Given the description of an element on the screen output the (x, y) to click on. 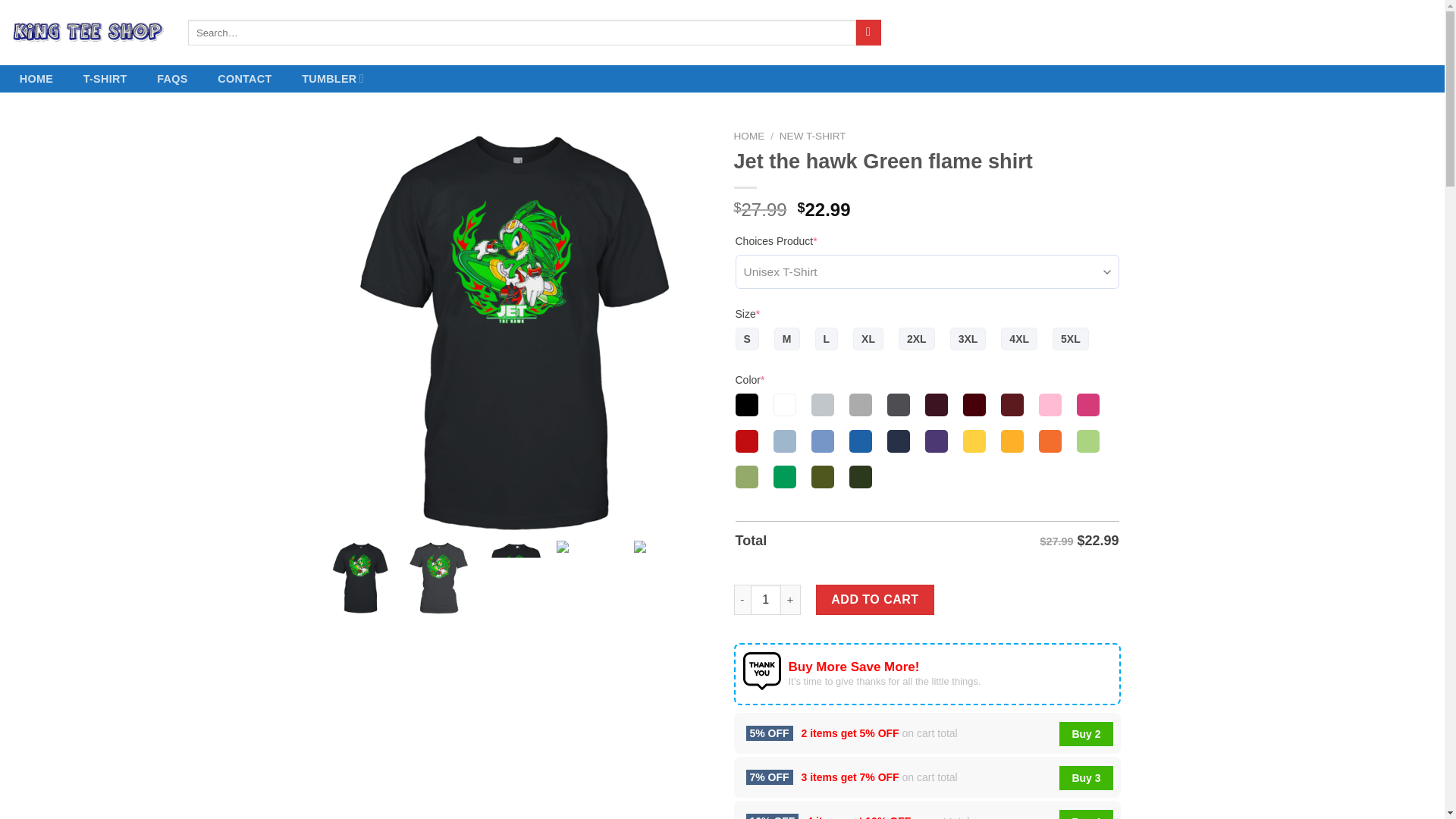
KING TEE STORE (88, 32)
HOME (749, 135)
HOME (36, 78)
T-SHIRT (105, 78)
ADD TO CART (874, 599)
Cart (1387, 32)
NEW T-SHIRT (811, 135)
FAQS (171, 78)
CONTACT (244, 78)
Search (868, 32)
